Given the description of an element on the screen output the (x, y) to click on. 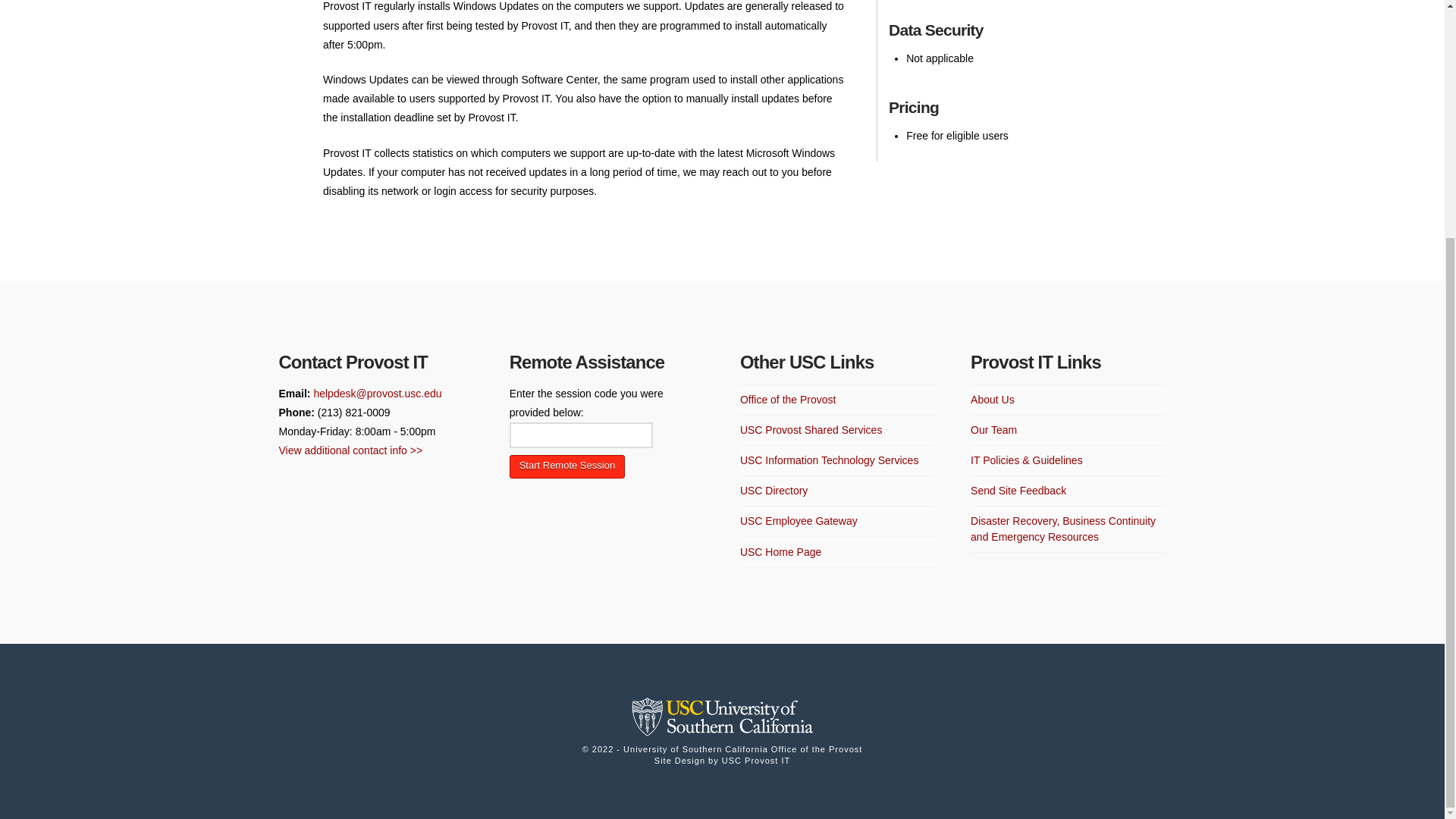
Email Provost IT (377, 393)
University of Southern California (721, 718)
Start Remote Session (566, 466)
Start Remote Session (566, 466)
Office of the Provost (787, 399)
USC Provost Shared Services (810, 430)
